Given the description of an element on the screen output the (x, y) to click on. 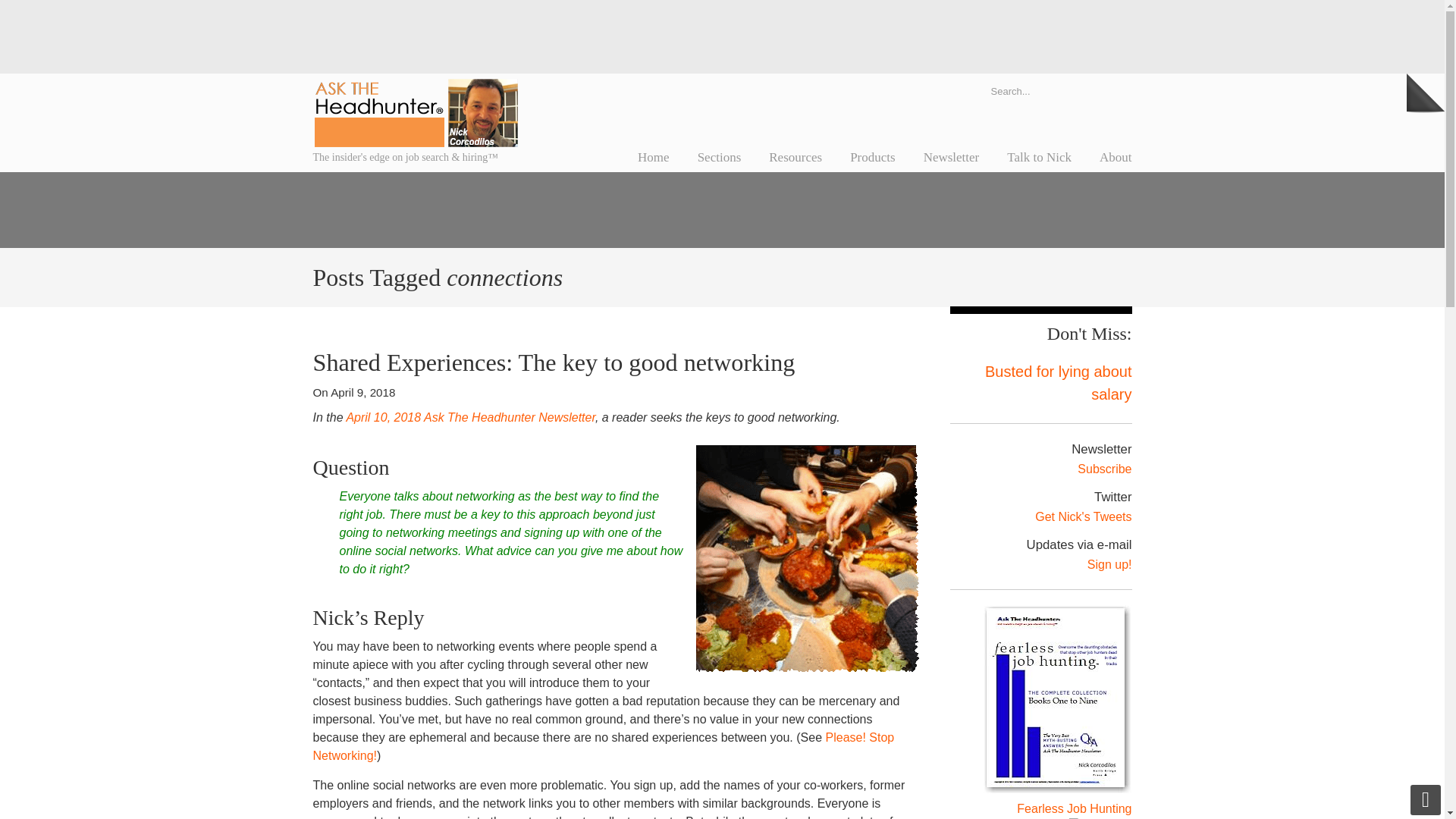
Shared Experiences: The key to good networking (553, 361)
Ask The Headhunter Newsletter (470, 417)
Home (653, 157)
Sections (719, 157)
search (1115, 90)
Please! Stop Networking! (603, 746)
search (1115, 90)
Newsletter (951, 157)
Products (872, 157)
search (1115, 90)
Shared Experiences: The key to good networking (553, 361)
Resources (795, 157)
Search... (1039, 90)
April 10, 2018 Ask The Headhunter Newsletter (470, 417)
Talk to Nick (1038, 157)
